Given the description of an element on the screen output the (x, y) to click on. 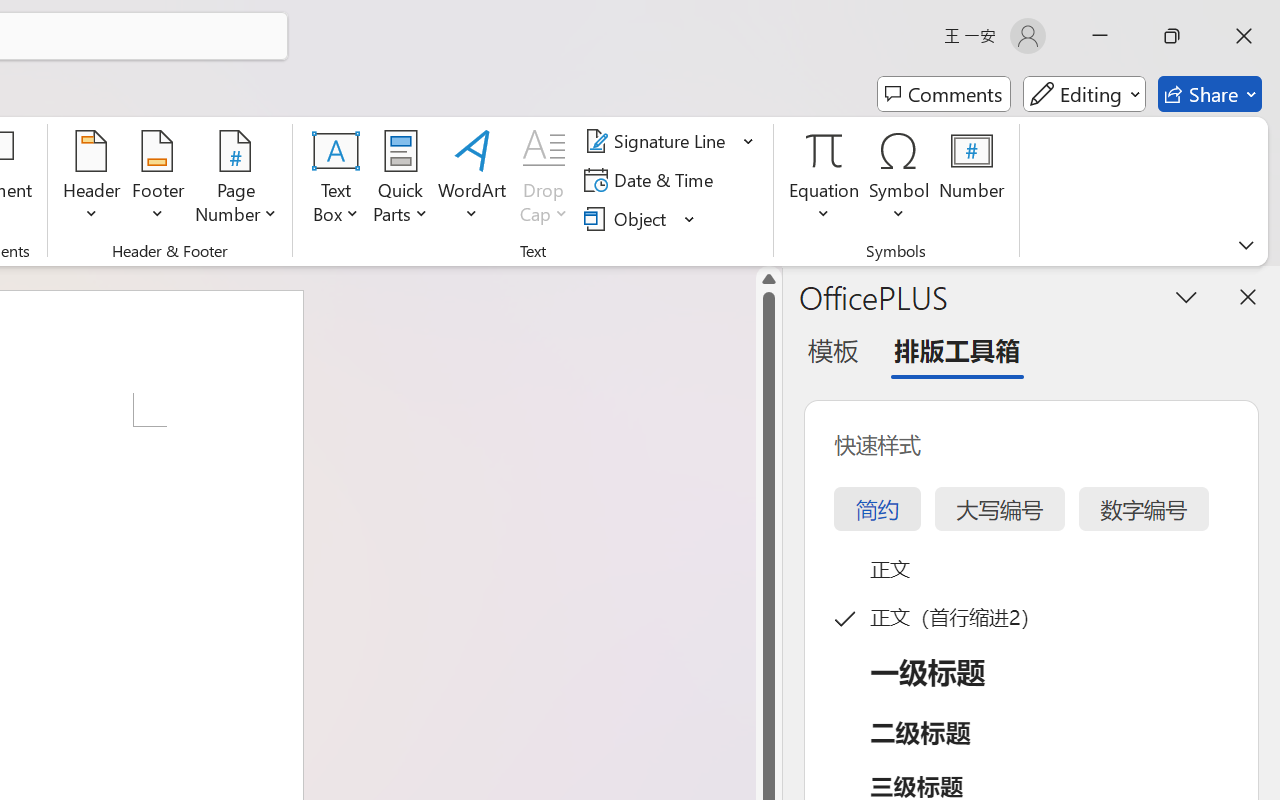
Equation (823, 150)
Signature Line (658, 141)
